Given the description of an element on the screen output the (x, y) to click on. 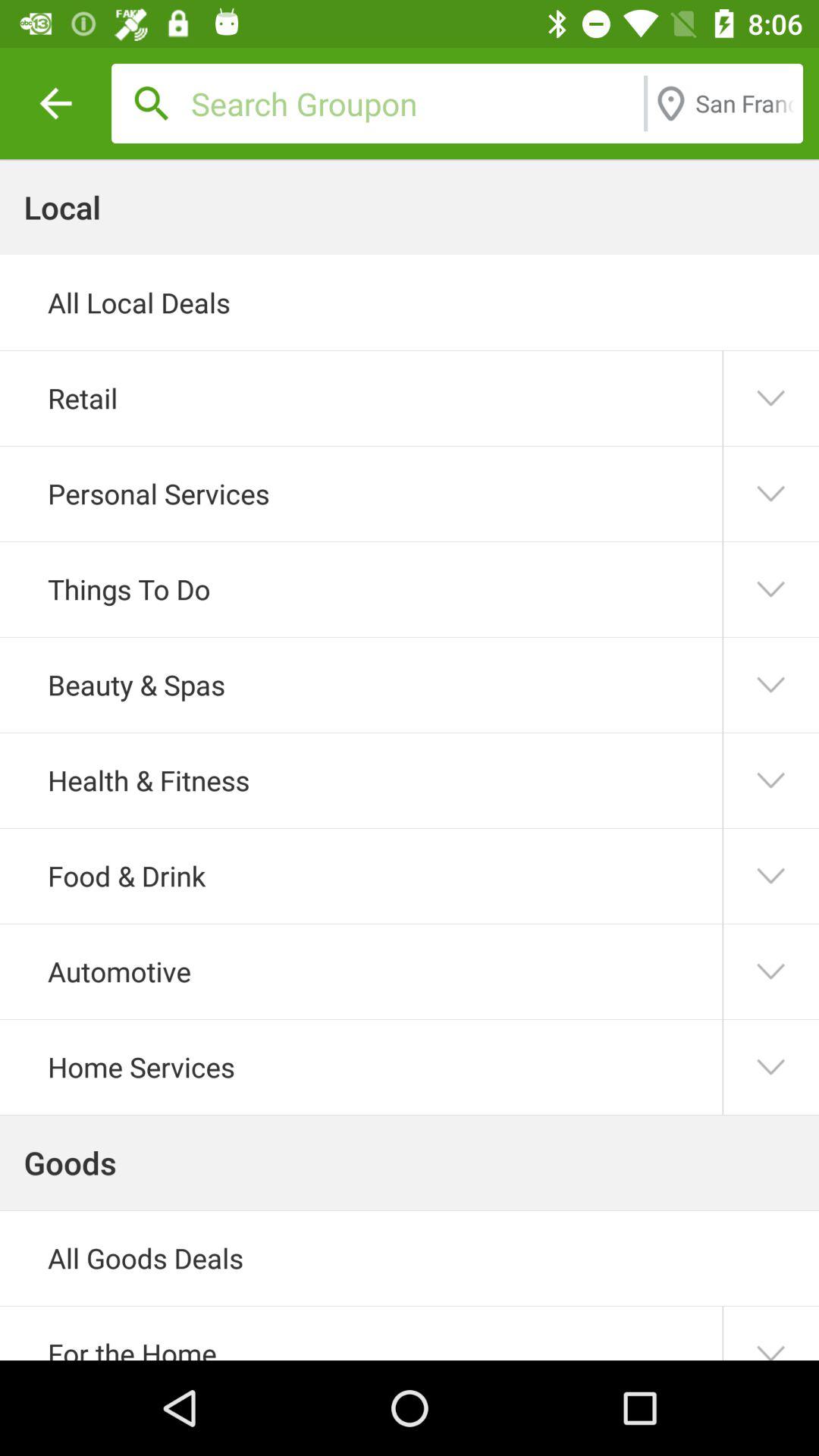
it is a search box (413, 103)
